Given the description of an element on the screen output the (x, y) to click on. 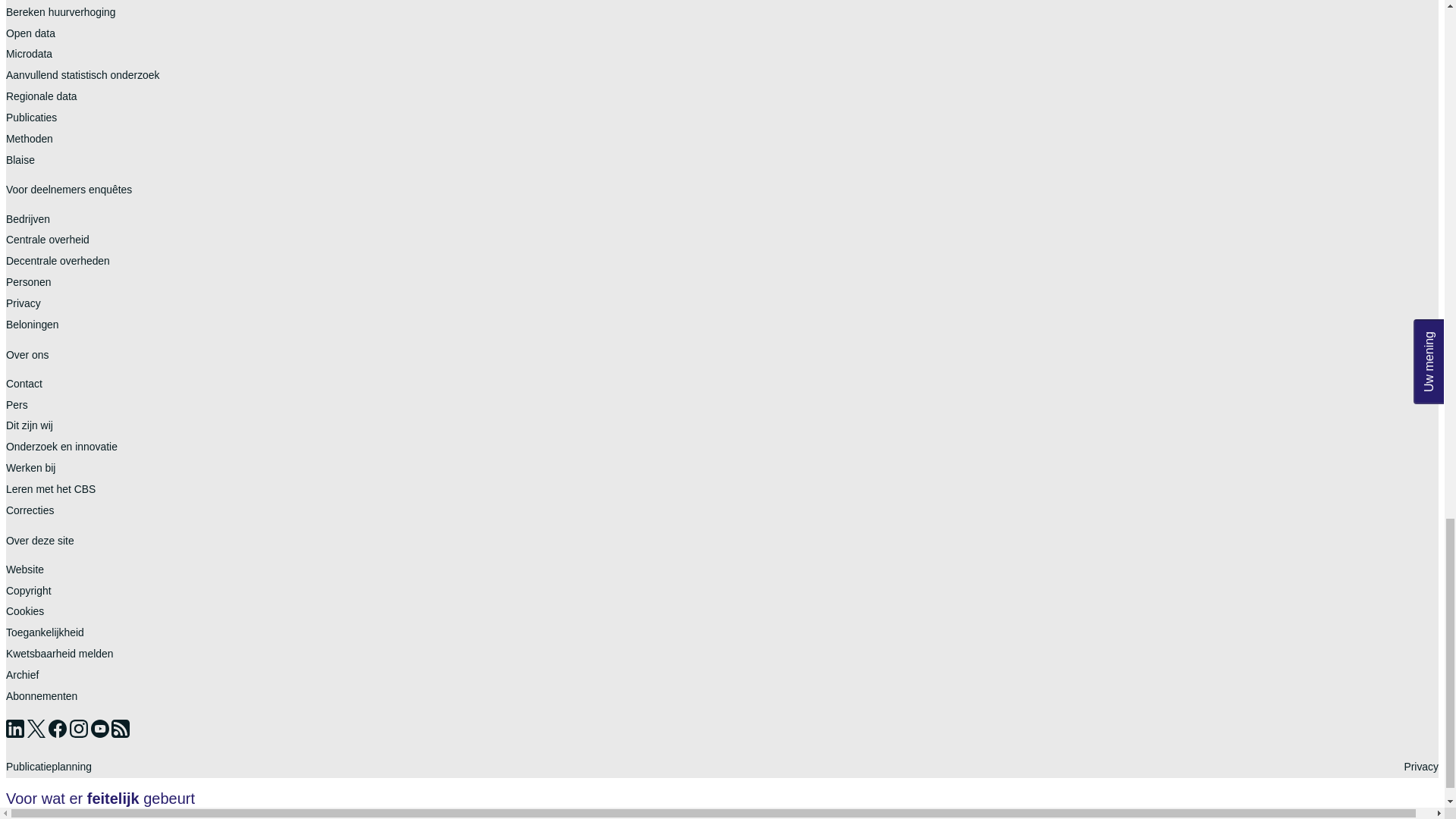
LinkedIn (16, 734)
X (37, 734)
Instagram (79, 734)
Facebook (58, 734)
YouTube (101, 734)
